Given the description of an element on the screen output the (x, y) to click on. 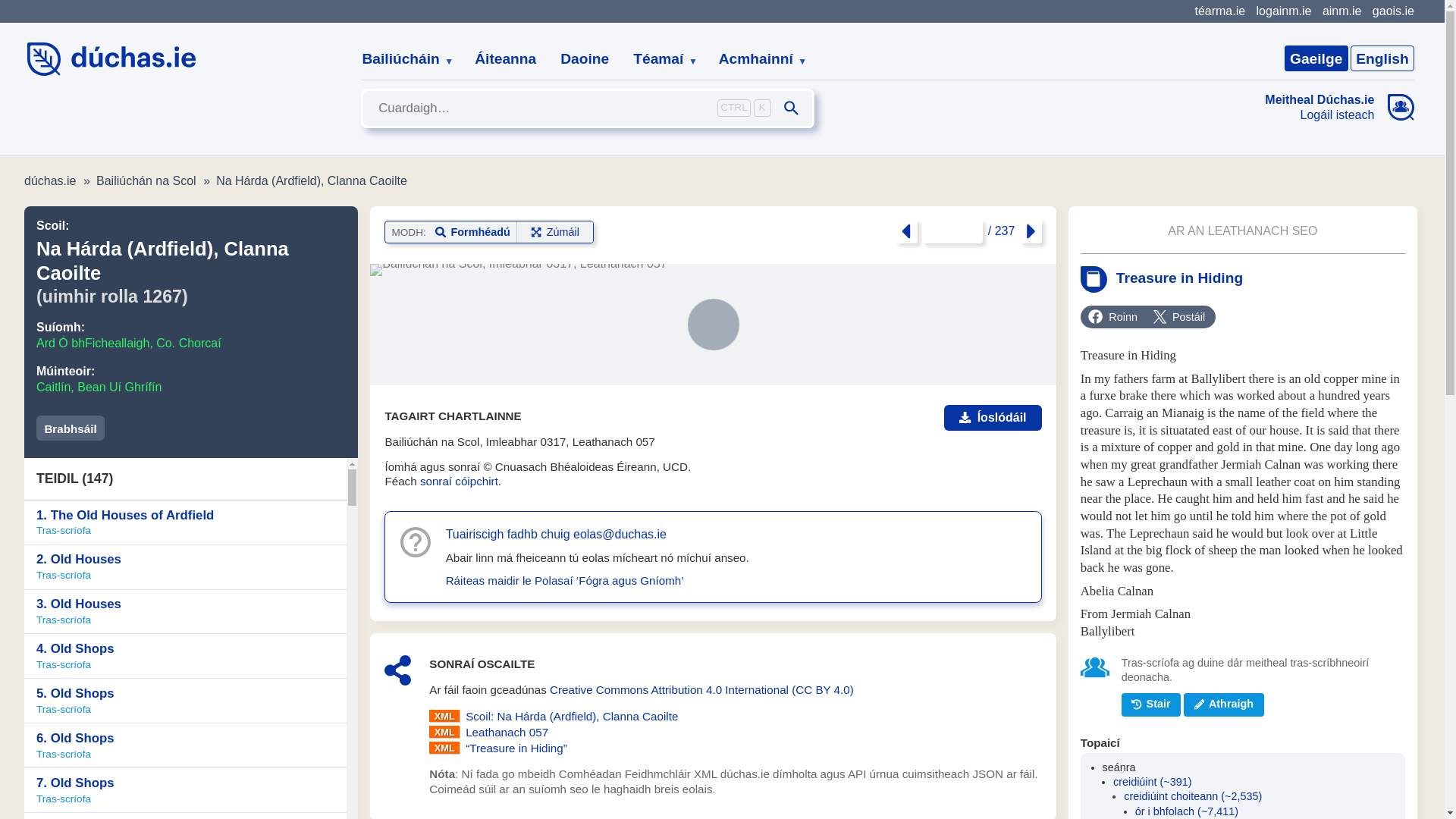
English (1382, 58)
logainm.ie (1283, 11)
ainm.ie (1341, 11)
Daoine (584, 58)
gaois.ie (1393, 11)
Gaeilge (1316, 58)
